Given the description of an element on the screen output the (x, y) to click on. 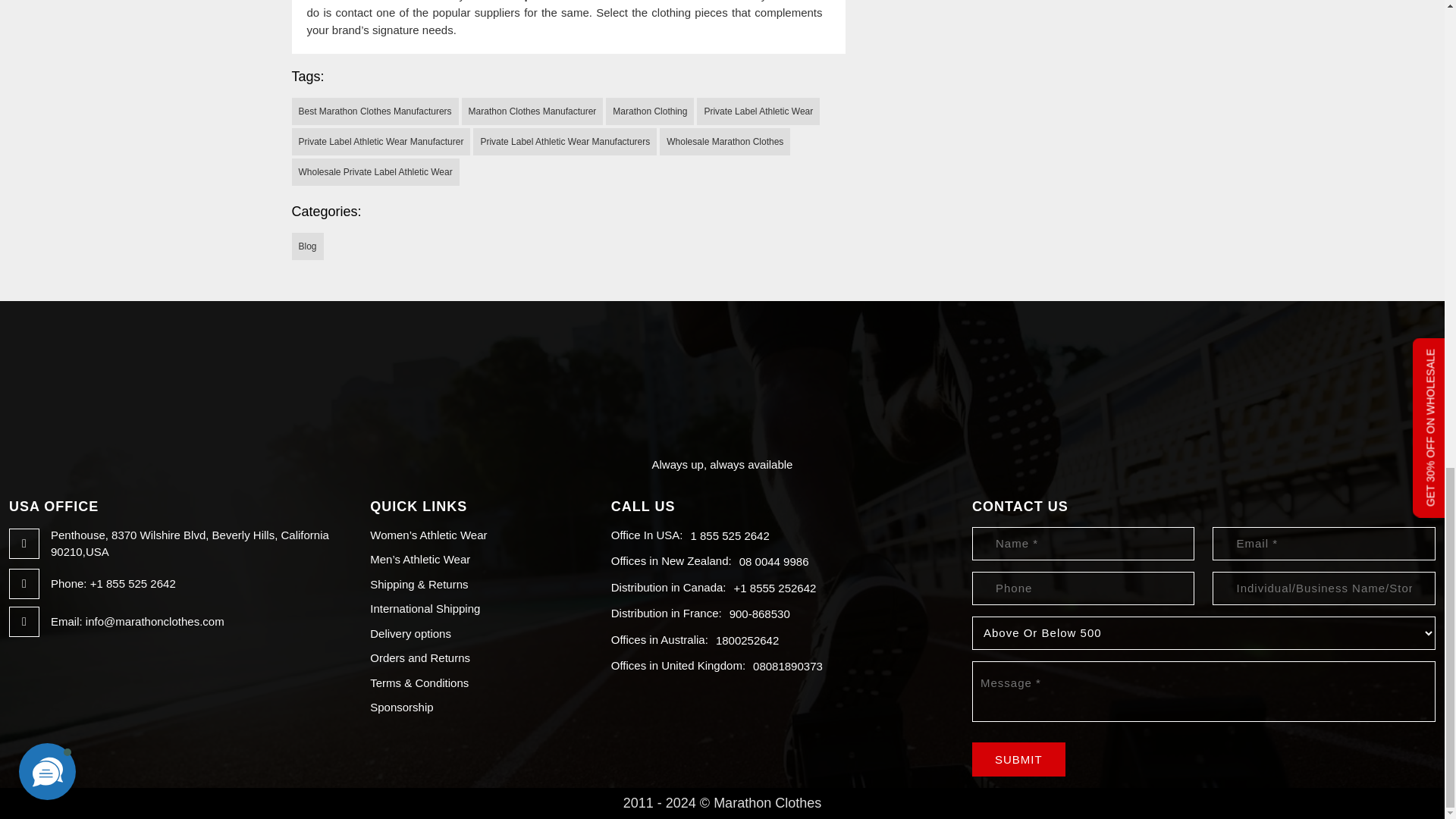
Marathon Clothing (649, 111)
Blog (307, 246)
Marathon Clothes Manufacturer (532, 111)
Wholesale Private Label Athletic Wear (374, 171)
Private Label Athletic Wear (758, 111)
Best Marathon Clothes Manufacturers (374, 111)
Private Label Athletic Wear Manufacturer (380, 141)
Wholesale Marathon Clothes (724, 141)
Private Label Athletic Wear Manufacturers (564, 141)
private label athletic wear (594, 0)
Submit (1018, 759)
